Given the description of an element on the screen output the (x, y) to click on. 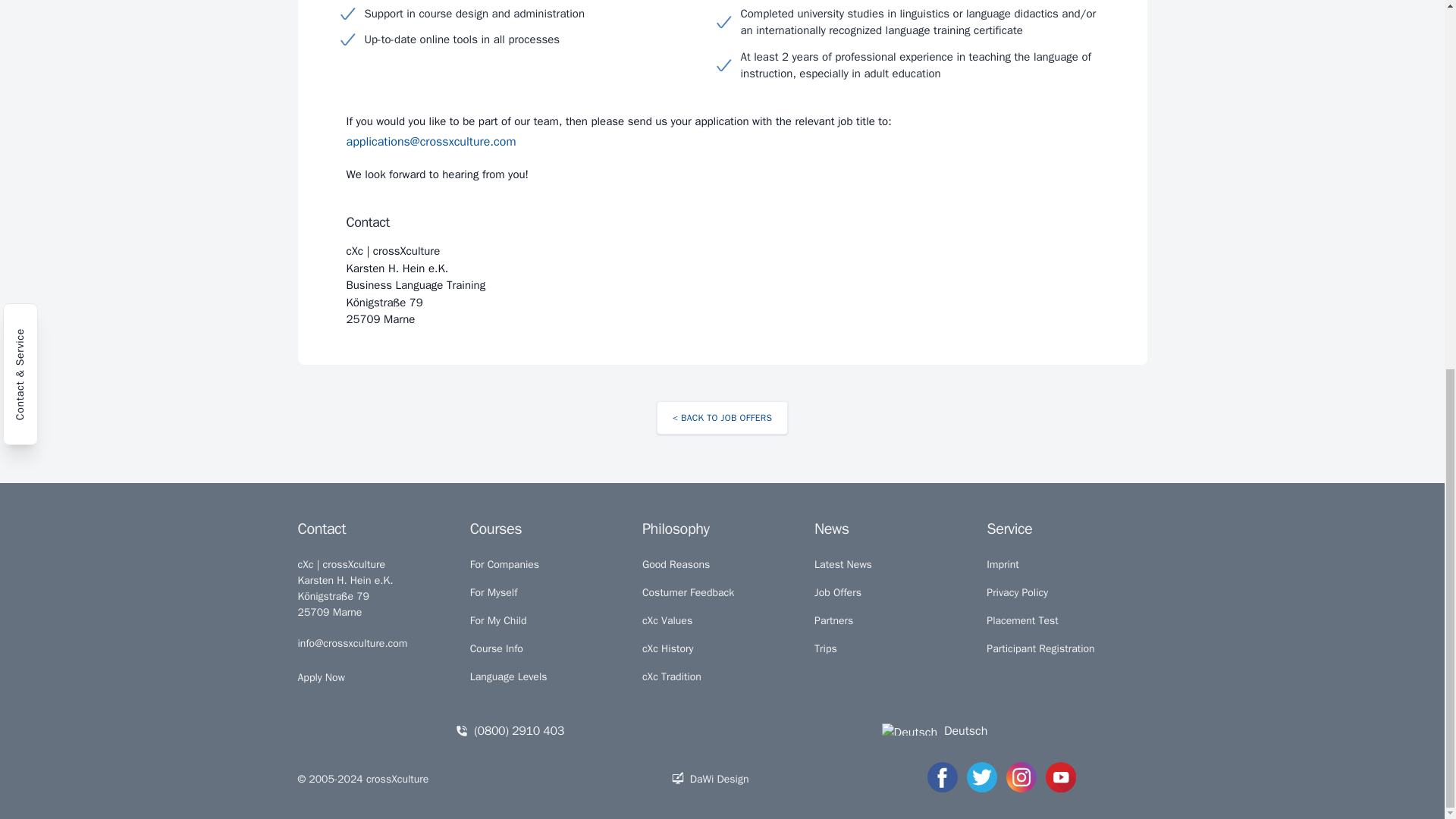
For Myself (494, 592)
Deutsch (935, 729)
cXc Tradition (671, 675)
Apply Now (320, 677)
cXc Values (667, 619)
Job Offers (837, 592)
Latest News (842, 563)
For Companies (504, 563)
Placement Test (1022, 619)
Good Reasons (676, 563)
Imprint (1003, 563)
Partners (833, 619)
Course Info (496, 648)
Participant Registration (1040, 648)
Privacy Policy (1017, 592)
